Given the description of an element on the screen output the (x, y) to click on. 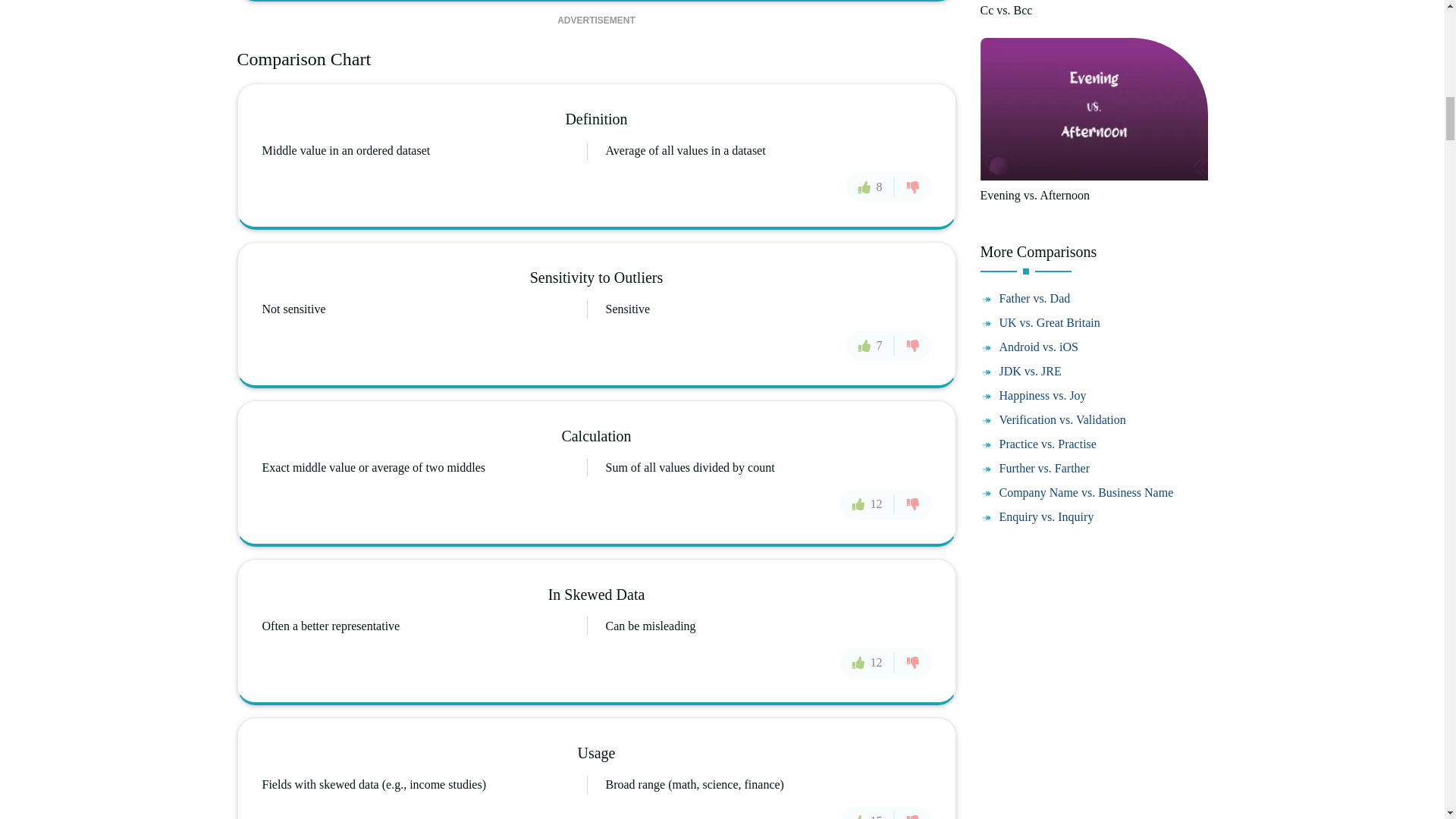
8 (870, 186)
7 (870, 345)
12 (867, 662)
12 (867, 503)
15 (867, 812)
